Given the description of an element on the screen output the (x, y) to click on. 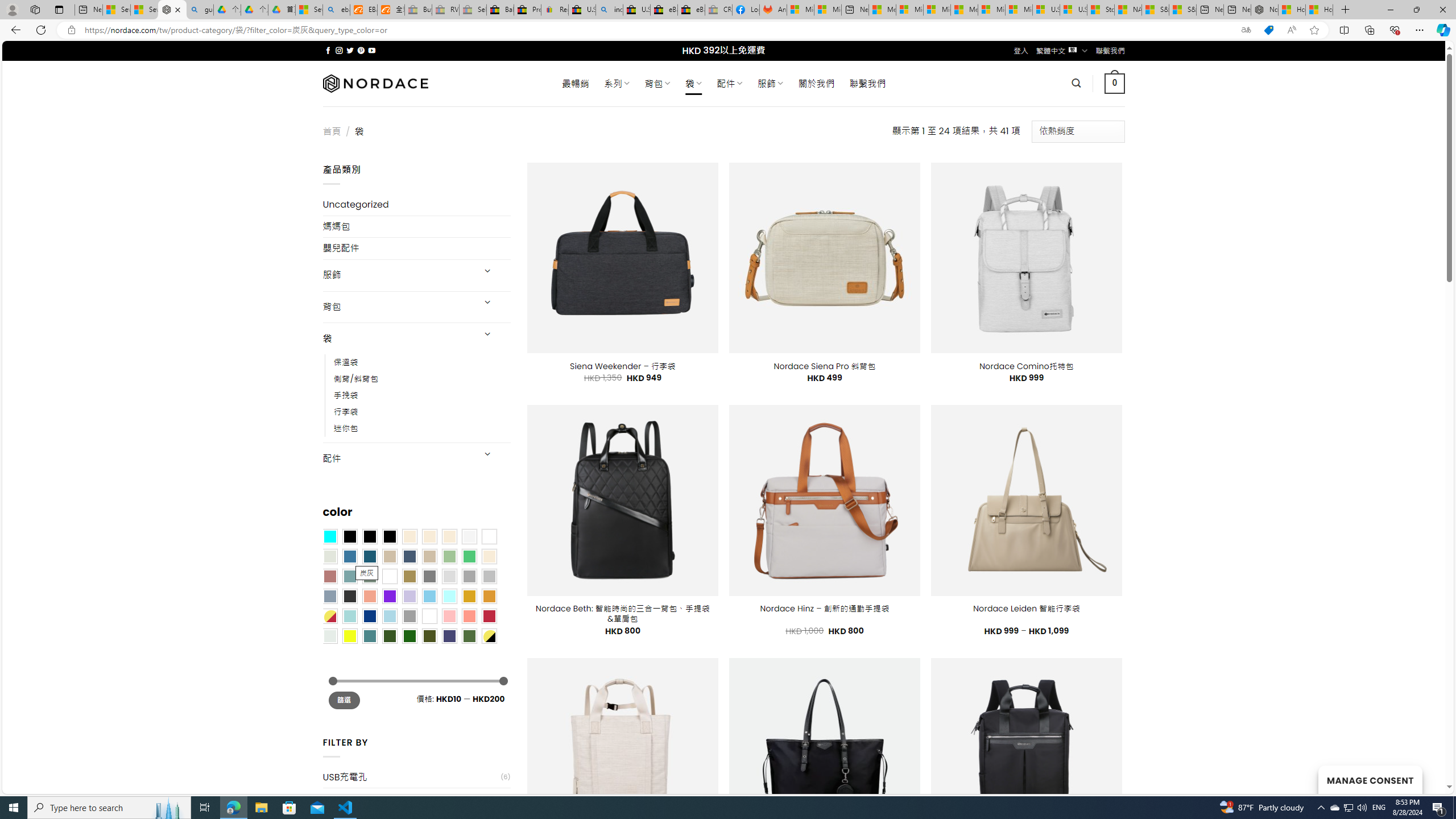
MANAGE CONSENT (1369, 779)
